Given the description of an element on the screen output the (x, y) to click on. 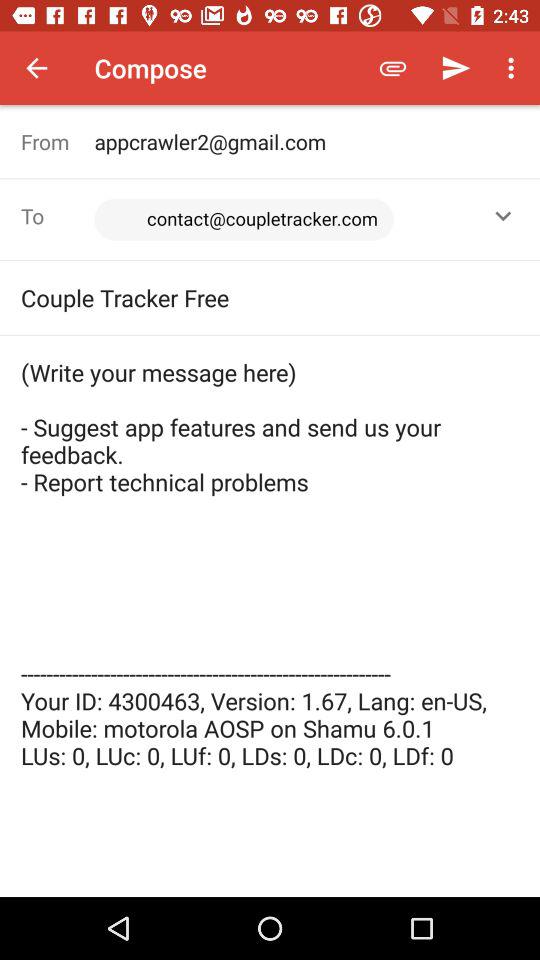
open the icon above the appcrawler2@gmail.com item (513, 67)
